Given the description of an element on the screen output the (x, y) to click on. 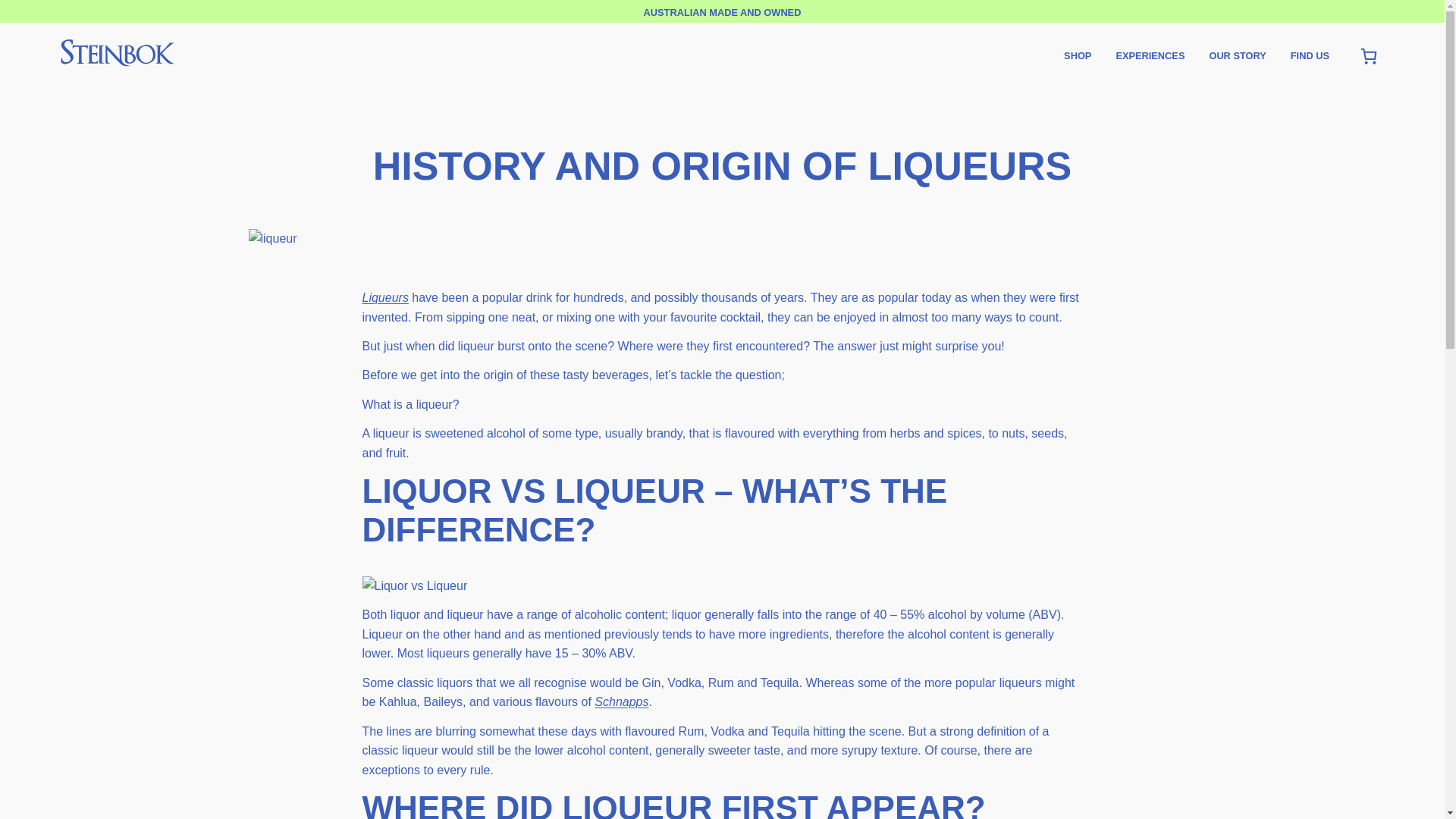
OUR STORY (1236, 55)
Liqueurs (385, 297)
FIND US (1309, 55)
SHOP (1077, 55)
EXPERIENCES (1150, 55)
Schnapps (620, 701)
